Given the description of an element on the screen output the (x, y) to click on. 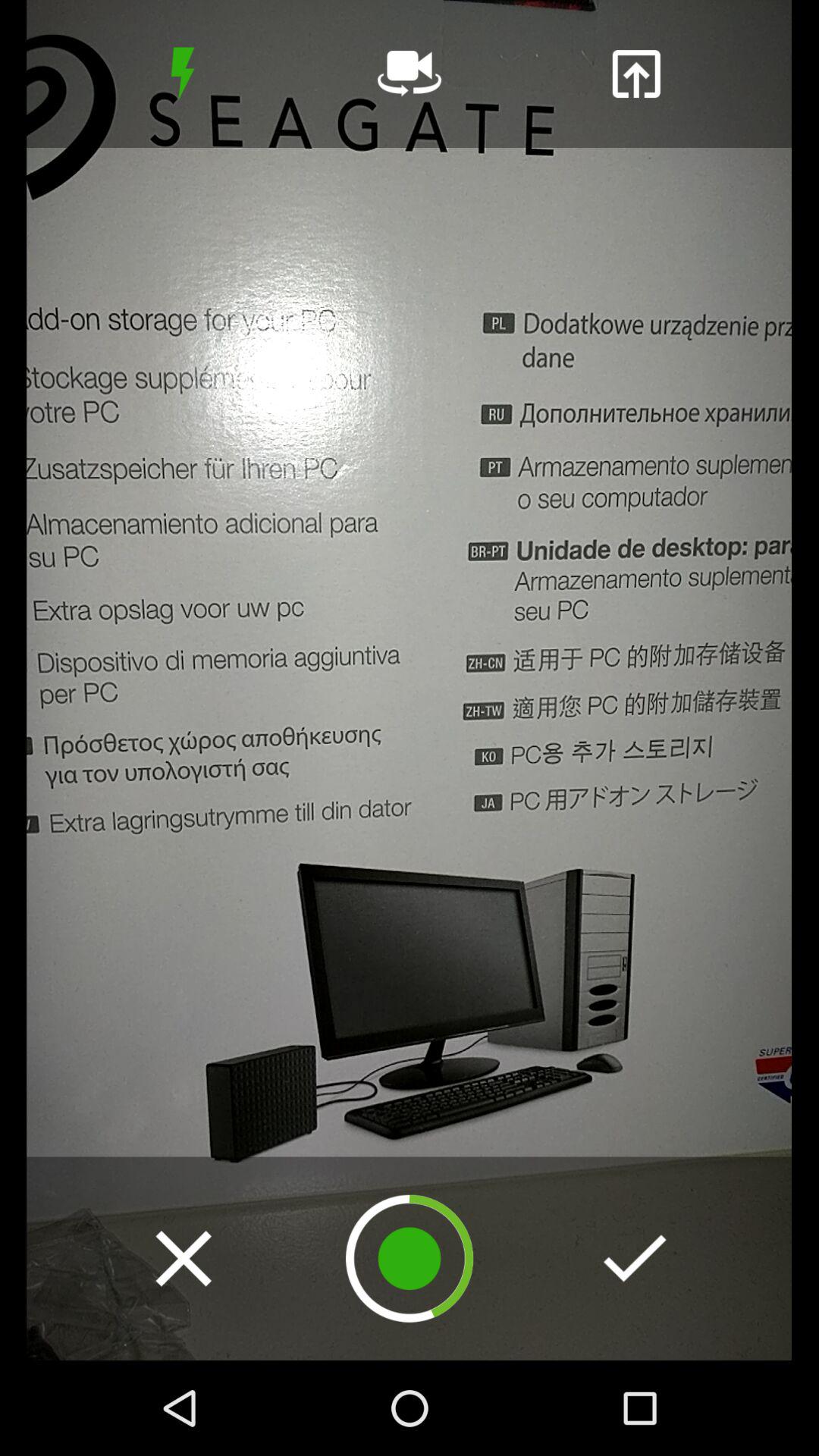
share the image (635, 73)
